Given the description of an element on the screen output the (x, y) to click on. 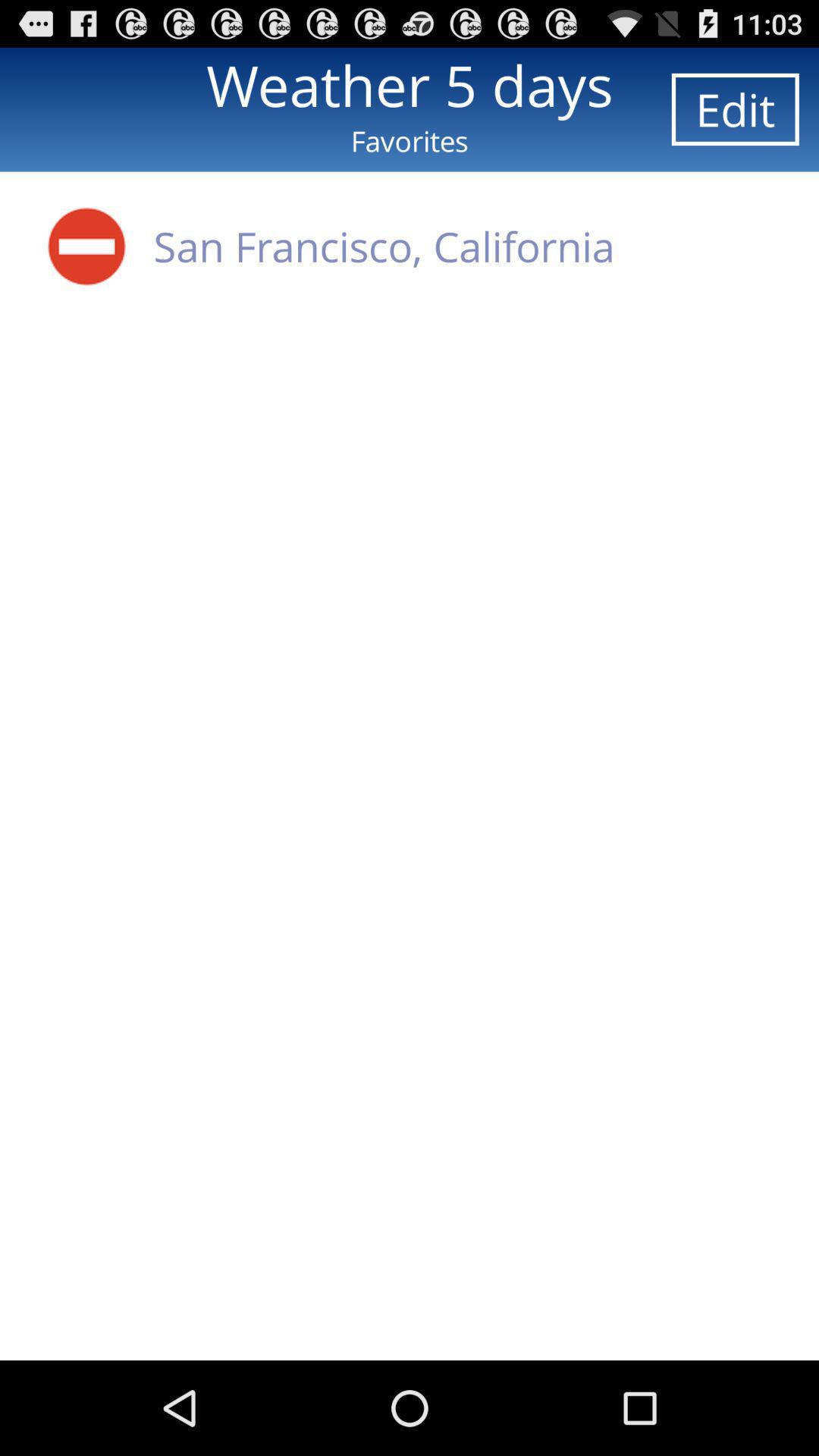
choose the app at the top right corner (735, 109)
